Given the description of an element on the screen output the (x, y) to click on. 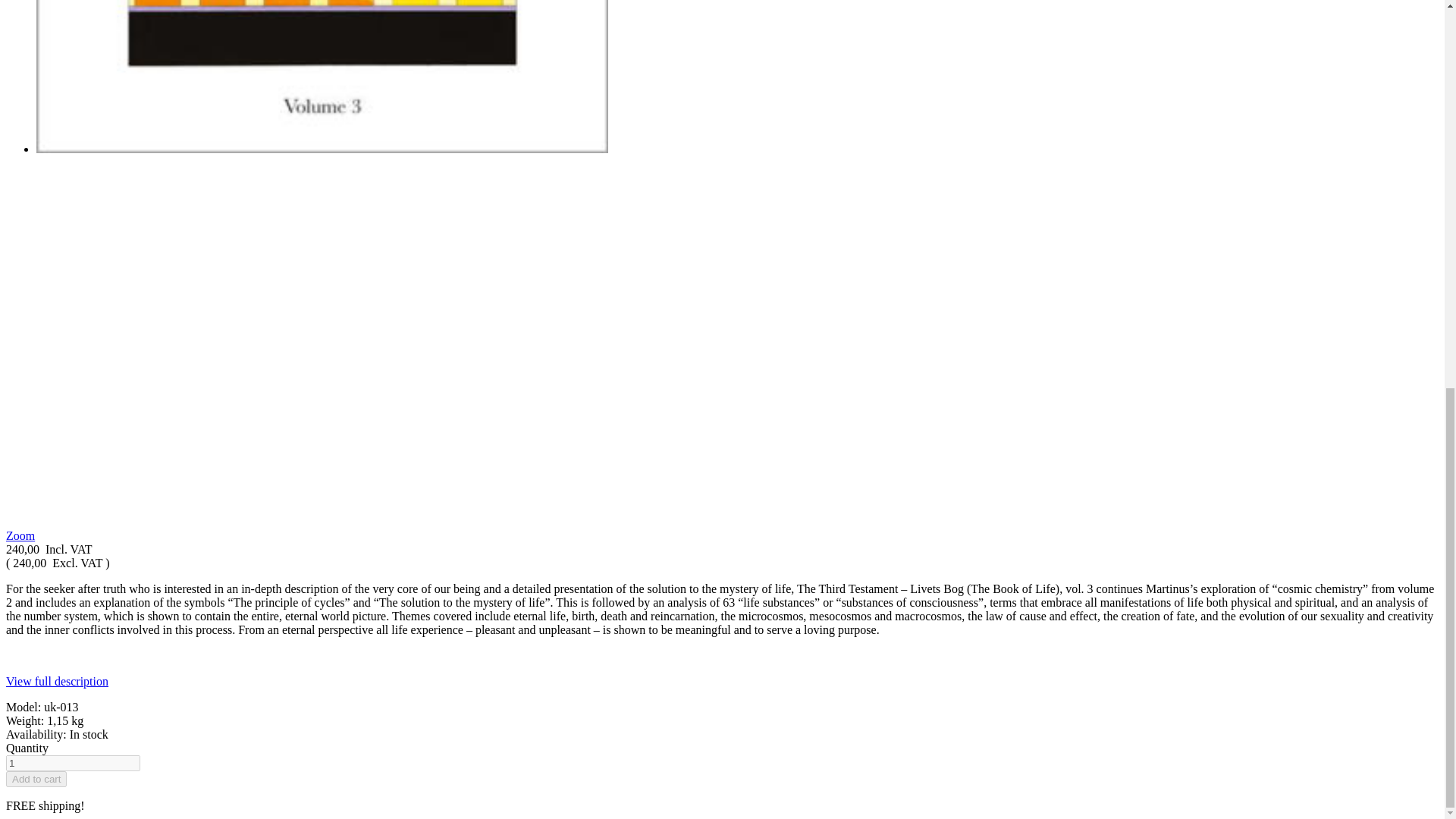
Add to cart (35, 779)
Zoom (19, 535)
1 (72, 763)
View full description (56, 680)
